Given the description of an element on the screen output the (x, y) to click on. 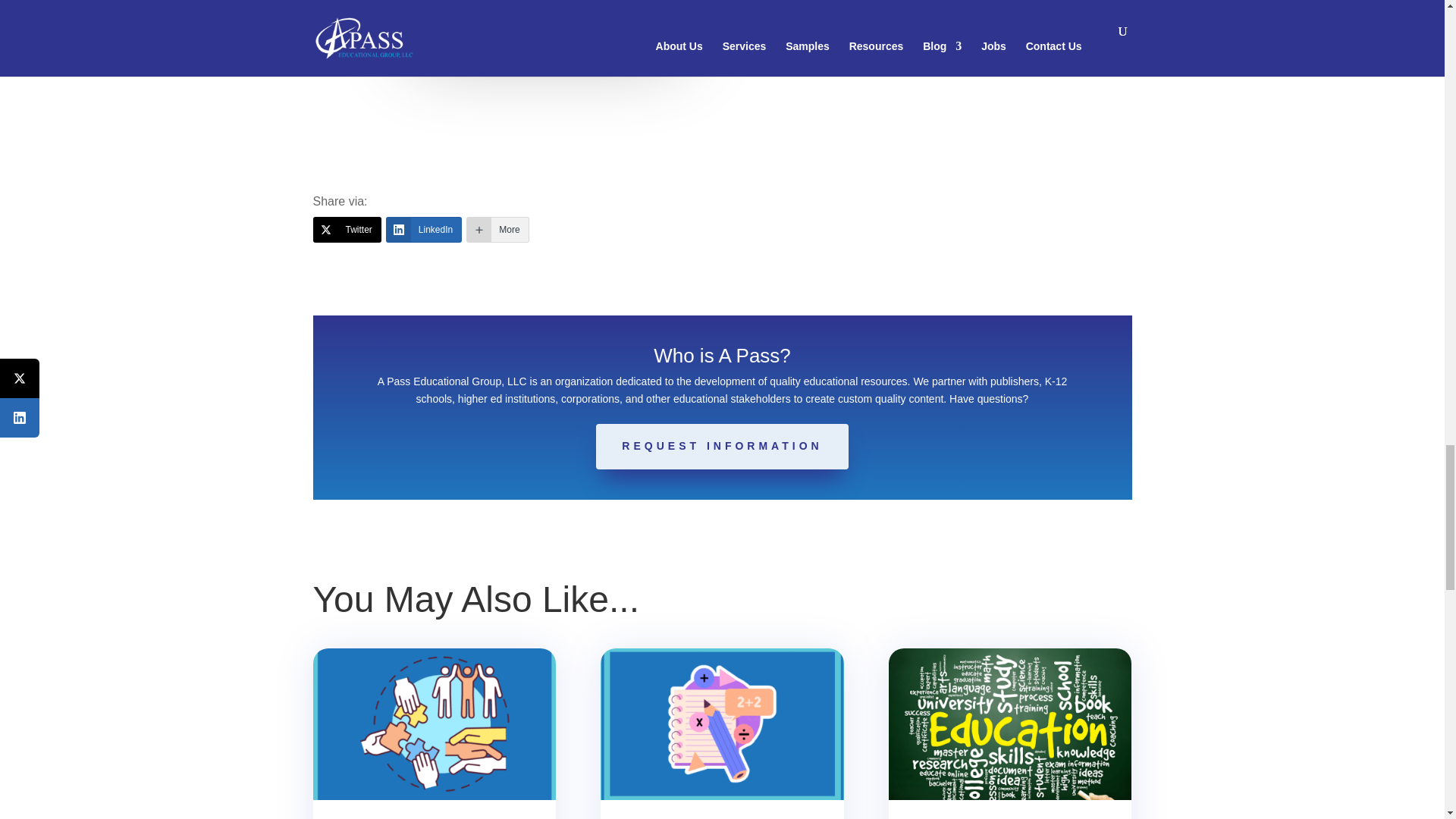
More (496, 229)
REQUEST INFORMATION (721, 446)
Twitter (346, 229)
Form 0 (894, 56)
LinkedIn (423, 229)
